Given the description of an element on the screen output the (x, y) to click on. 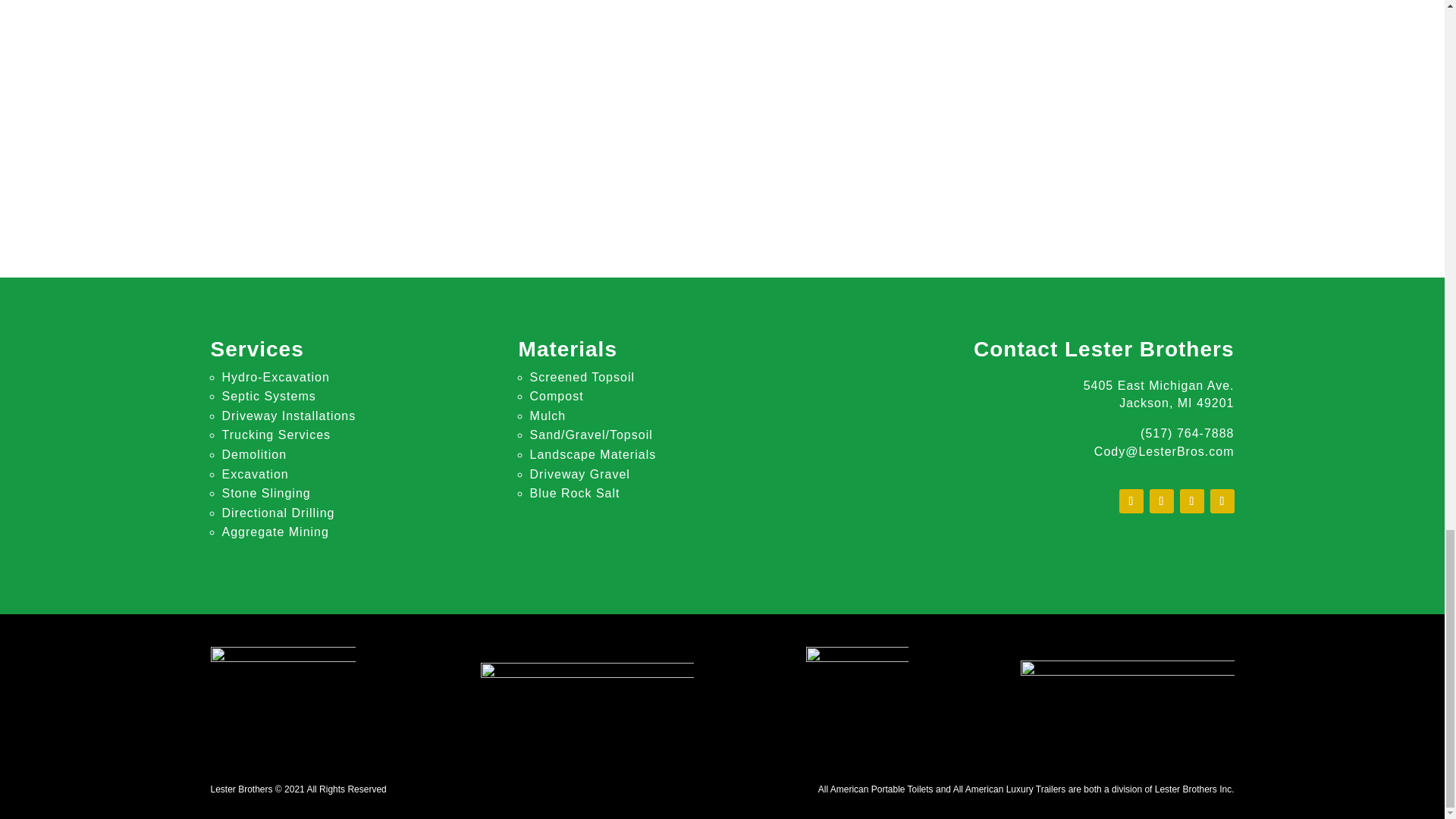
Follow on Instagram (1191, 500)
avetta-logo (587, 687)
Follow on Facebook (1130, 500)
Follow on LinkedIn (1221, 500)
unnamed-2 (857, 693)
maa-logo (283, 689)
Follow on X (1161, 500)
3890ac1ee5236ab74e6db8eb03f5a630 (1127, 691)
